Given the description of an element on the screen output the (x, y) to click on. 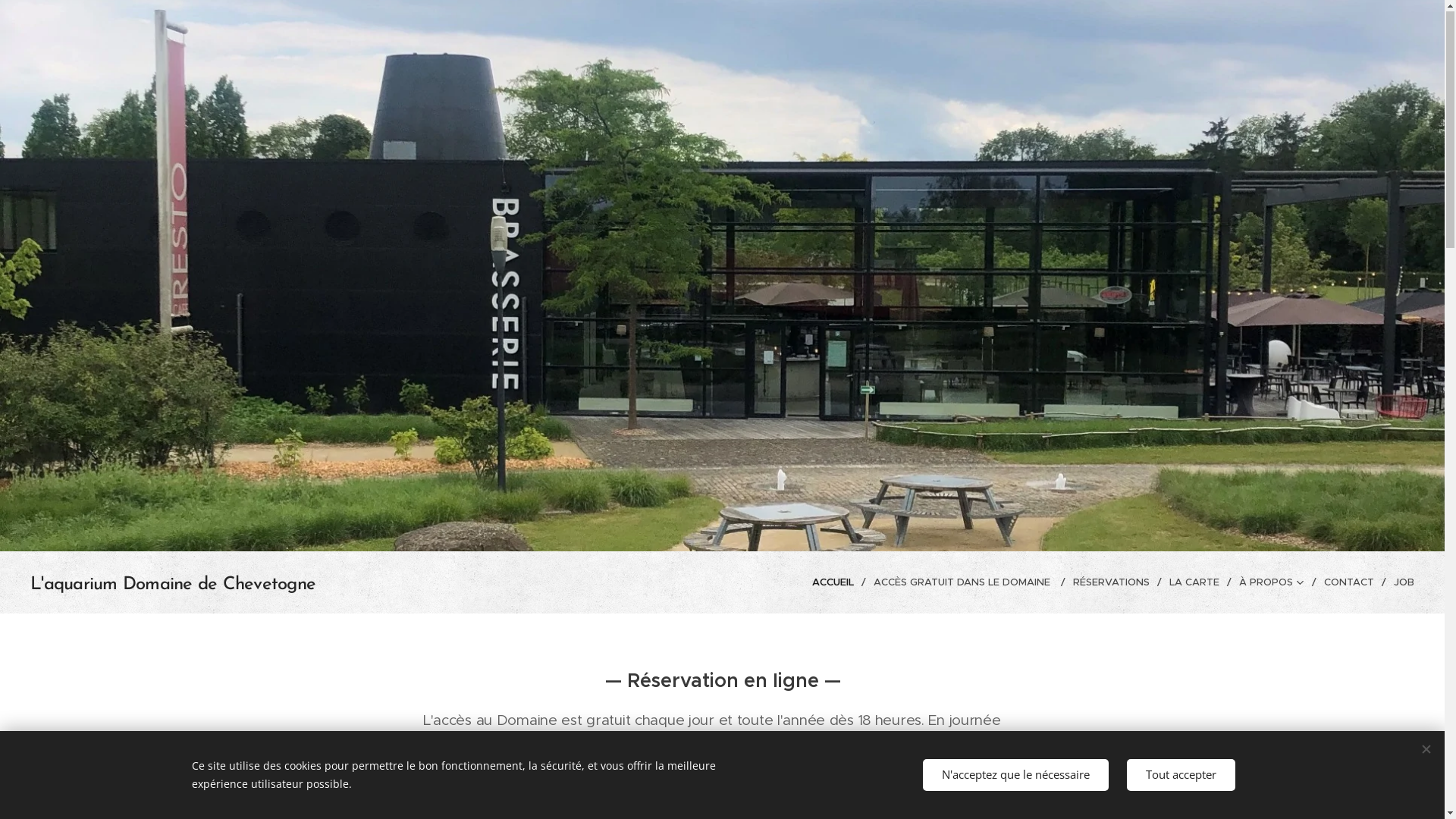
ACCUEIL Element type: text (837, 583)
JOB Element type: text (1400, 583)
CONTACT Element type: text (1351, 583)
Tout accepter Element type: text (1180, 774)
LA CARTE Element type: text (1196, 583)
